Given the description of an element on the screen output the (x, y) to click on. 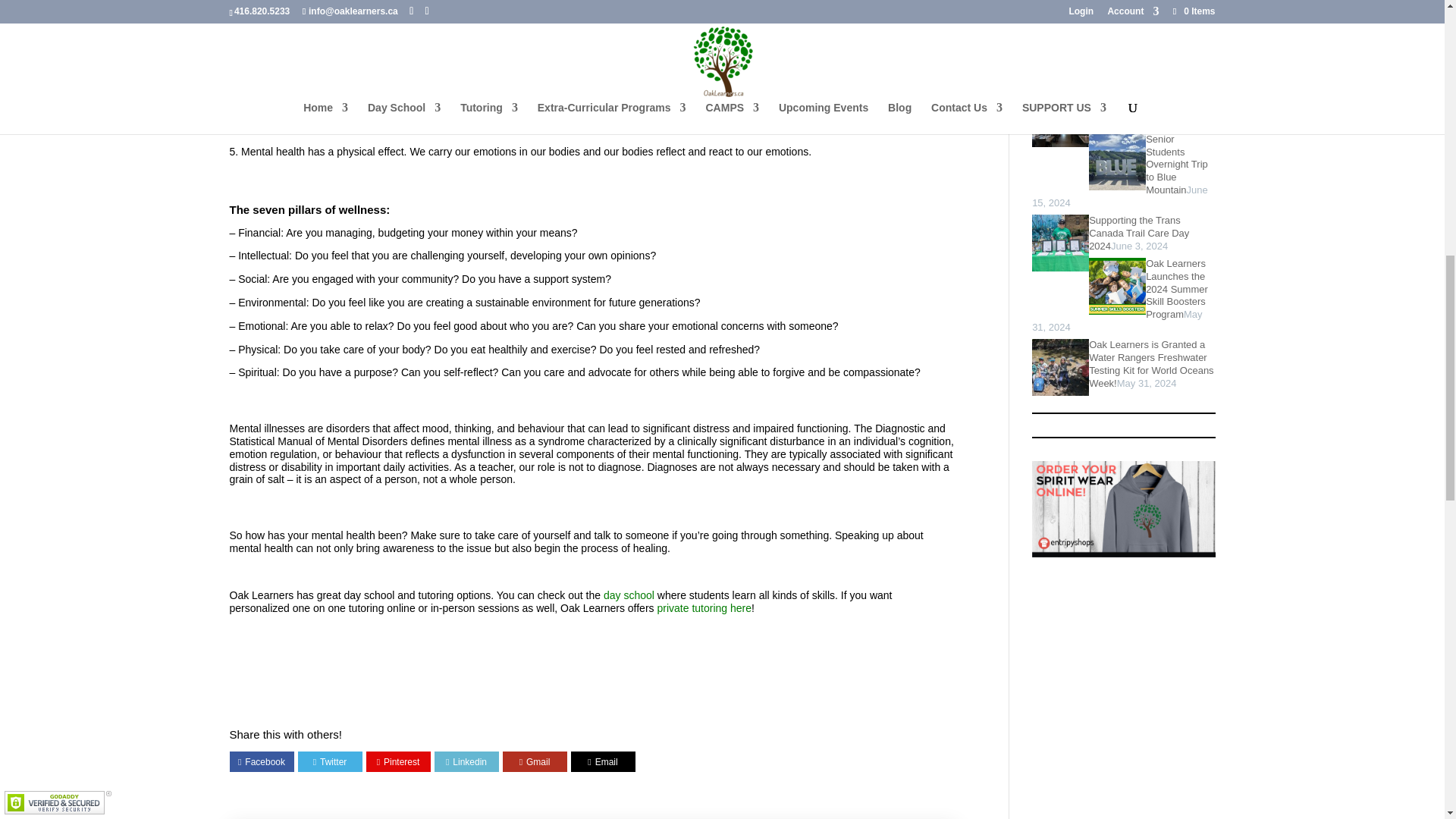
Share on Facebook (261, 761)
Email to someone (602, 761)
Share on Linkedin (465, 761)
Share on Pinterest (398, 761)
Share on Twitter (330, 761)
Email to someone (534, 761)
